Given the description of an element on the screen output the (x, y) to click on. 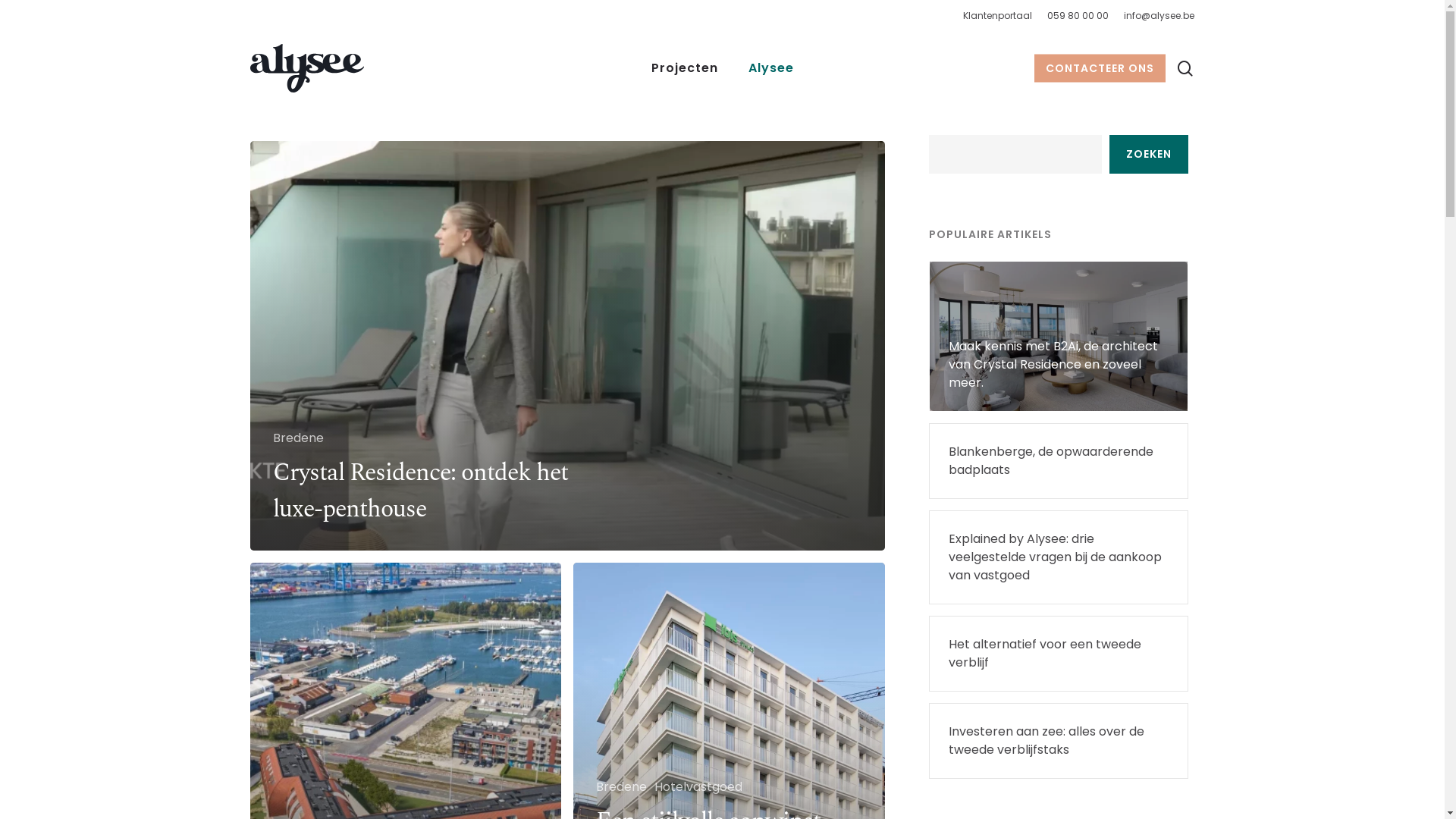
Alysee Element type: text (770, 68)
Bredene Element type: text (621, 787)
Investeren aan zee: alles over de tweede verblijfstaks Element type: text (1058, 740)
ZOEKEN Element type: text (1148, 153)
Het alternatief voor een tweede verblijf Element type: text (1058, 653)
059 80 00 00 Element type: text (1077, 15)
Blankenberge, de opwaarderende badplaats Element type: text (1058, 460)
info@alysee.be Element type: text (1158, 15)
Bredene Element type: text (298, 438)
Klantenportaal Element type: text (997, 15)
Hotelvastgoed Element type: text (698, 787)
Crystal Residence: ontdek het luxe-penthouse Element type: text (420, 490)
CONTACTEER ONS Element type: text (1099, 67)
Projecten Element type: text (683, 68)
search Element type: text (1185, 68)
